Given the description of an element on the screen output the (x, y) to click on. 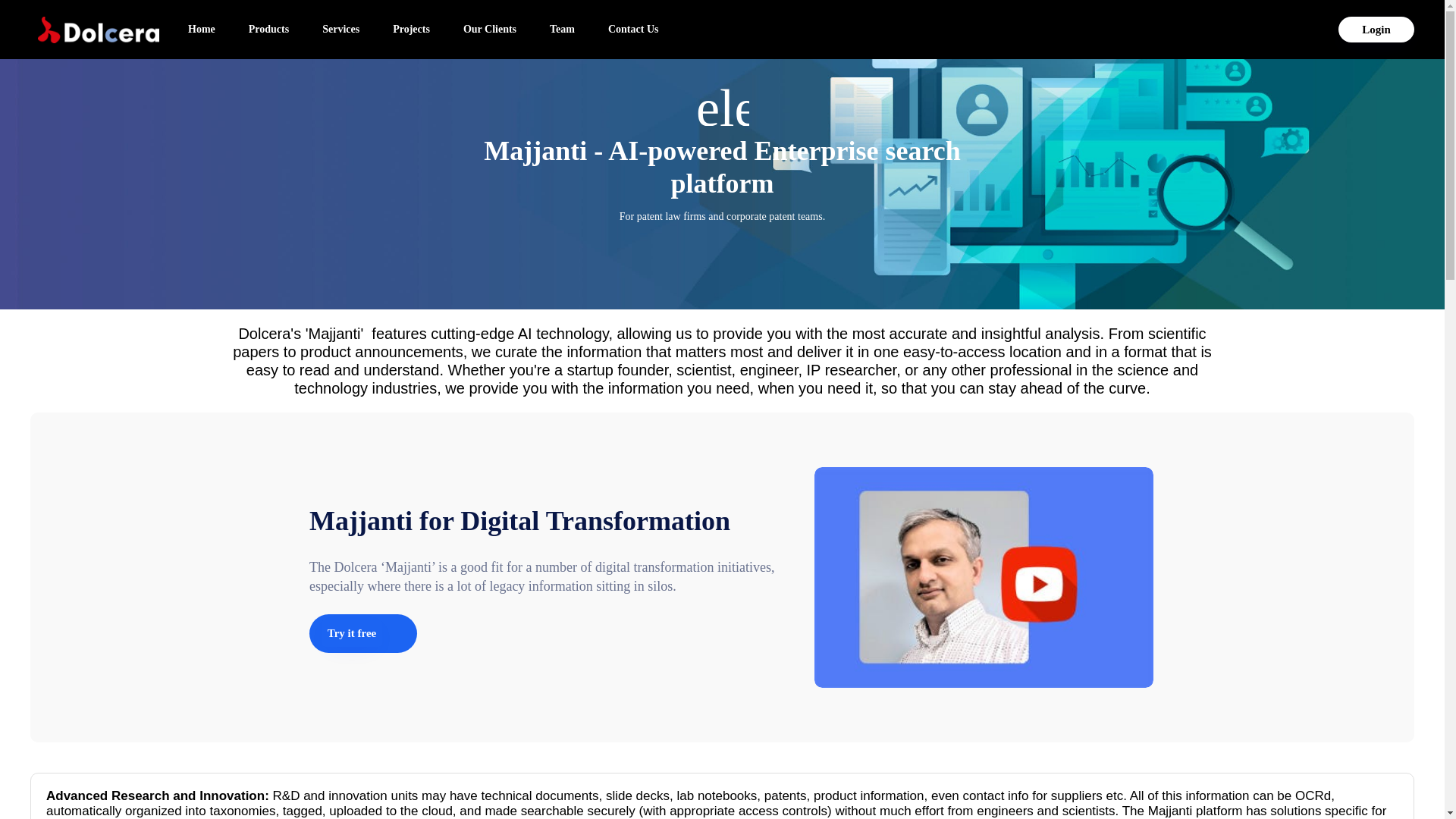
Try it free (351, 633)
Login (1375, 29)
Team (561, 29)
Projects (411, 29)
Home (201, 29)
Products (268, 29)
Services (340, 29)
Our Clients (489, 29)
Contact Us (633, 29)
